Given the description of an element on the screen output the (x, y) to click on. 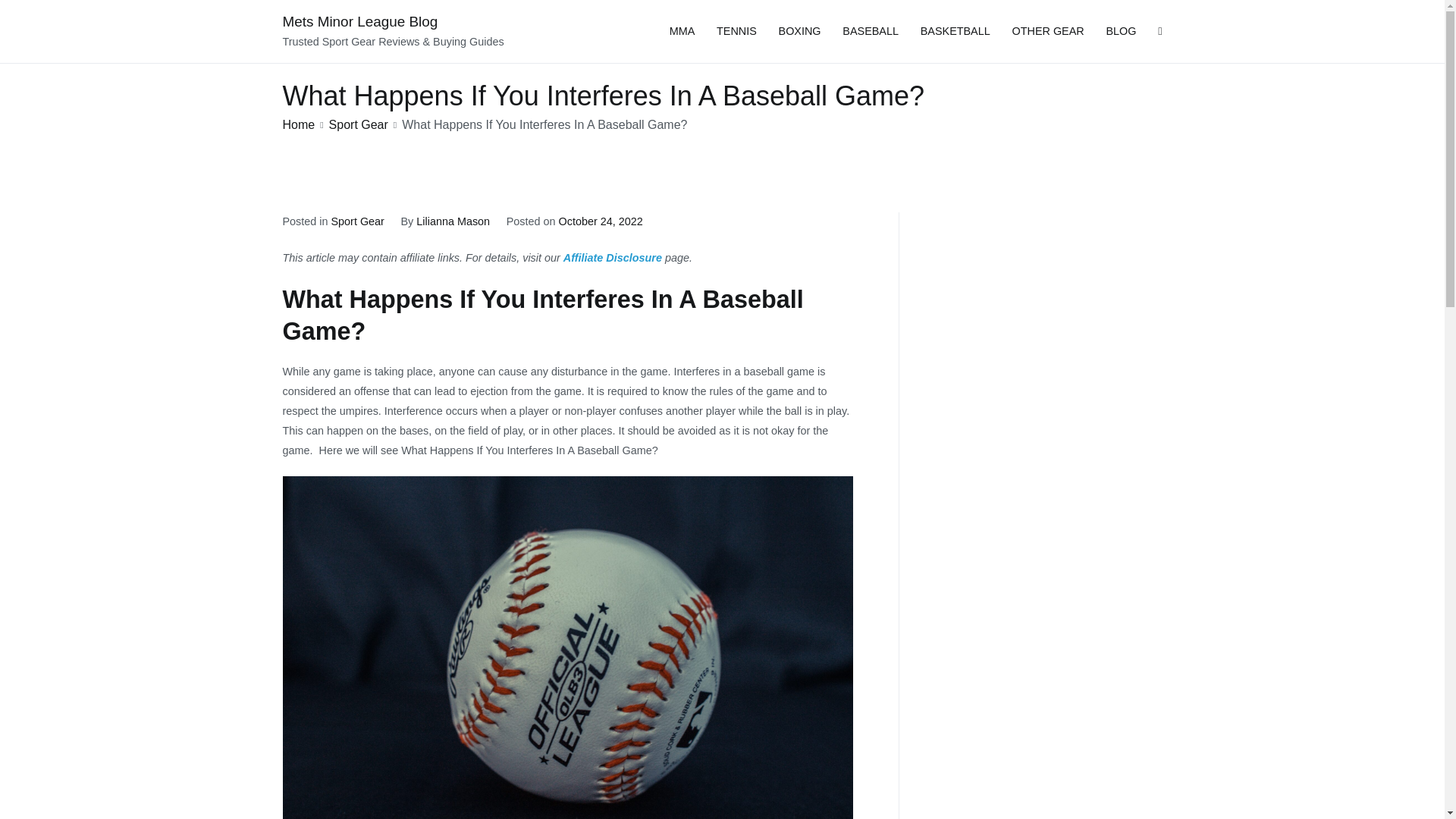
October 24, 2022 (599, 221)
BOXING (799, 31)
Mets Minor League Blog (360, 21)
TENNIS (736, 31)
MMA (682, 31)
BLOG (1120, 31)
Search (28, 13)
Sport Gear (357, 221)
BASEBALL (870, 31)
Affiliate Disclosure (612, 257)
Lilianna Mason (452, 221)
OTHER GEAR (1047, 31)
BASKETBALL (955, 31)
Sport Gear (358, 124)
Home (298, 124)
